Given the description of an element on the screen output the (x, y) to click on. 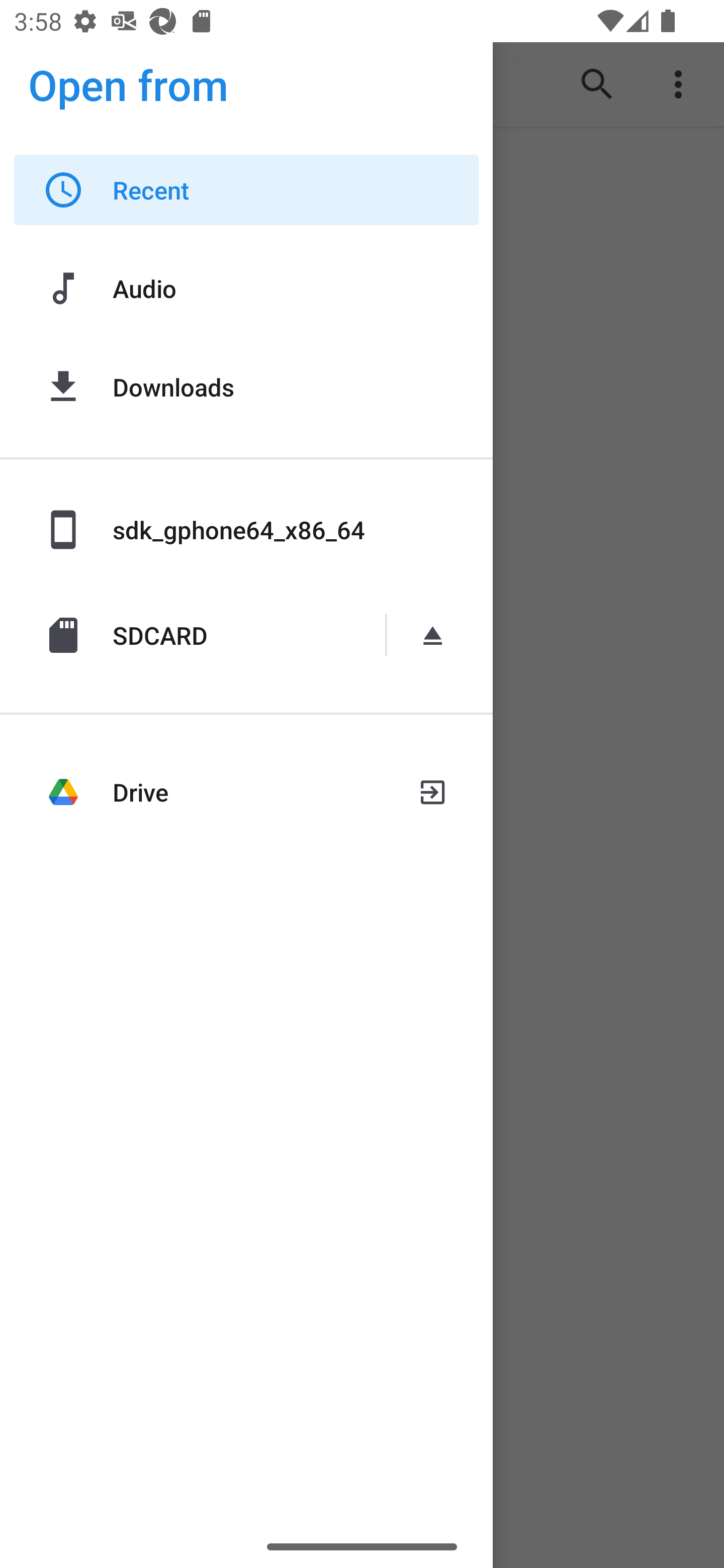
Show roots (49, 84)
Recent (246, 190)
Audio (246, 288)
Downloads (246, 386)
sdk_gphone64_x86_64 (246, 528)
SDCARD Eject (246, 634)
Eject (435, 634)
Drive (246, 791)
